Given the description of an element on the screen output the (x, y) to click on. 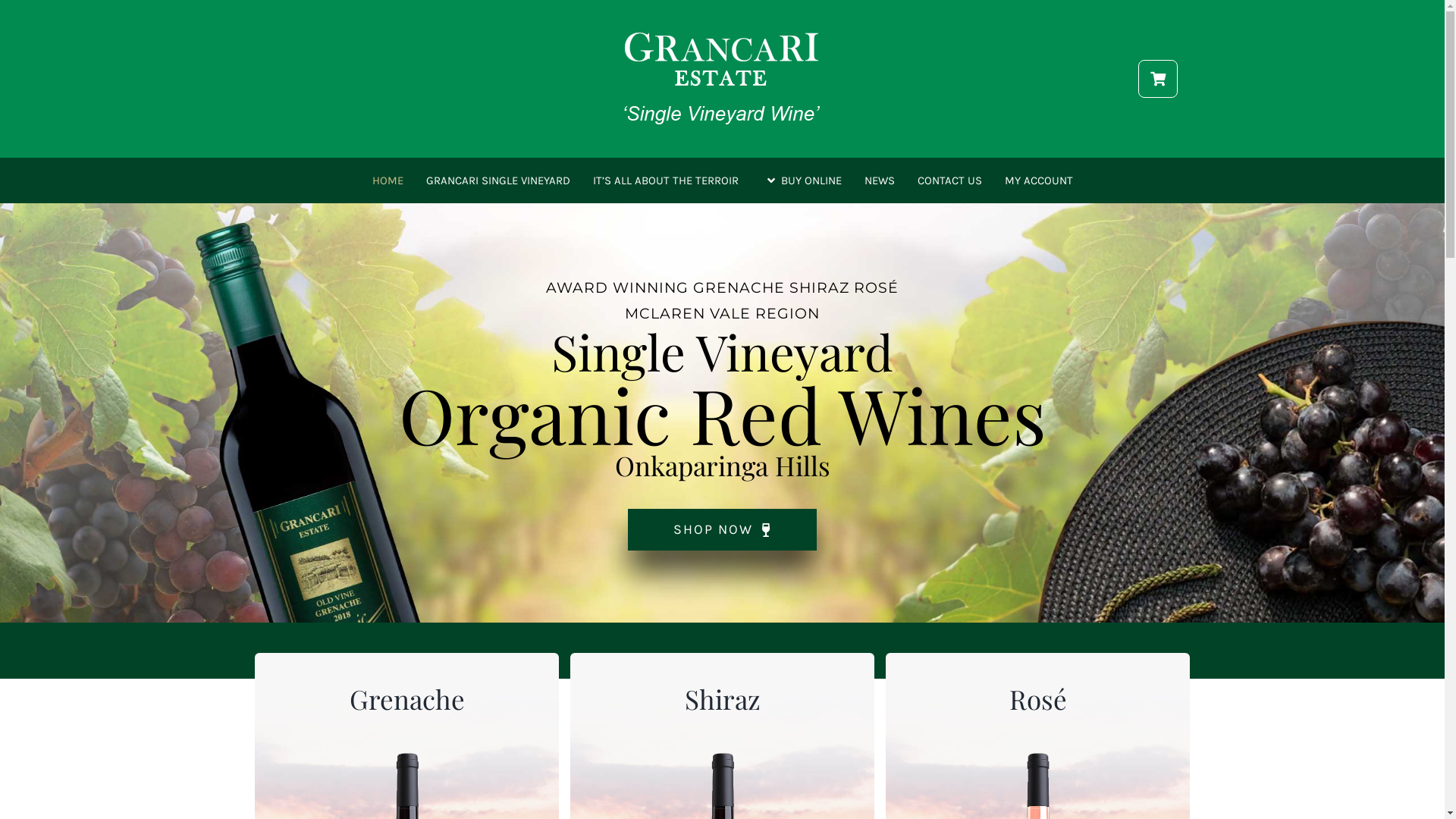
SHOP NOW Element type: text (722, 529)
HOME Element type: text (386, 180)
GRANCARI SINGLE VINEYARD Element type: text (498, 180)
NEWS Element type: text (879, 180)
MY ACCOUNT Element type: text (1038, 180)
CONTACT US Element type: text (949, 180)
Grenache Element type: text (406, 698)
Shiraz Element type: text (721, 698)
BUY ONLINE Element type: text (801, 180)
